Given the description of an element on the screen output the (x, y) to click on. 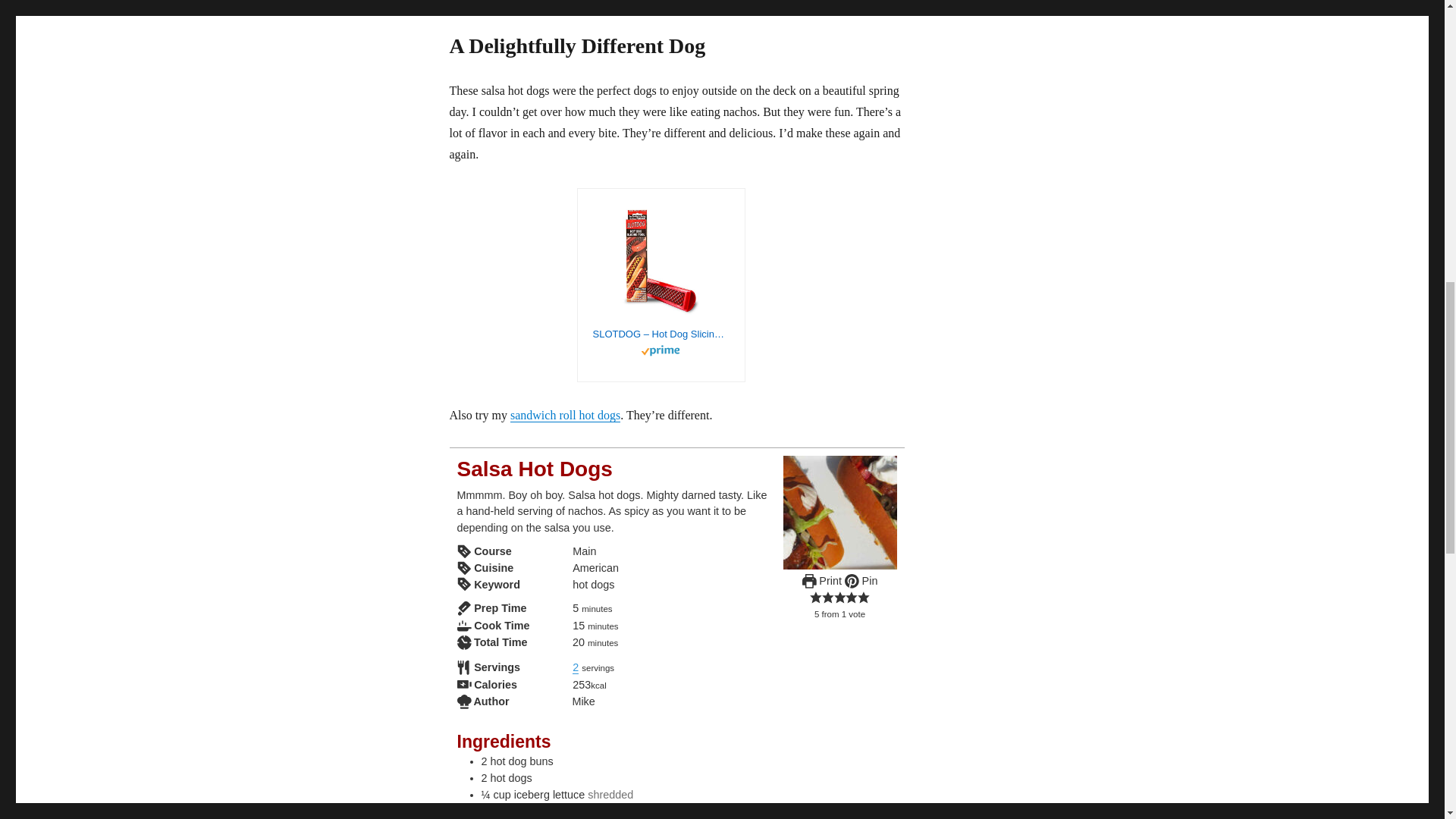
Pin (860, 580)
sandwich roll hot dogs (565, 414)
Print (821, 580)
